Given the description of an element on the screen output the (x, y) to click on. 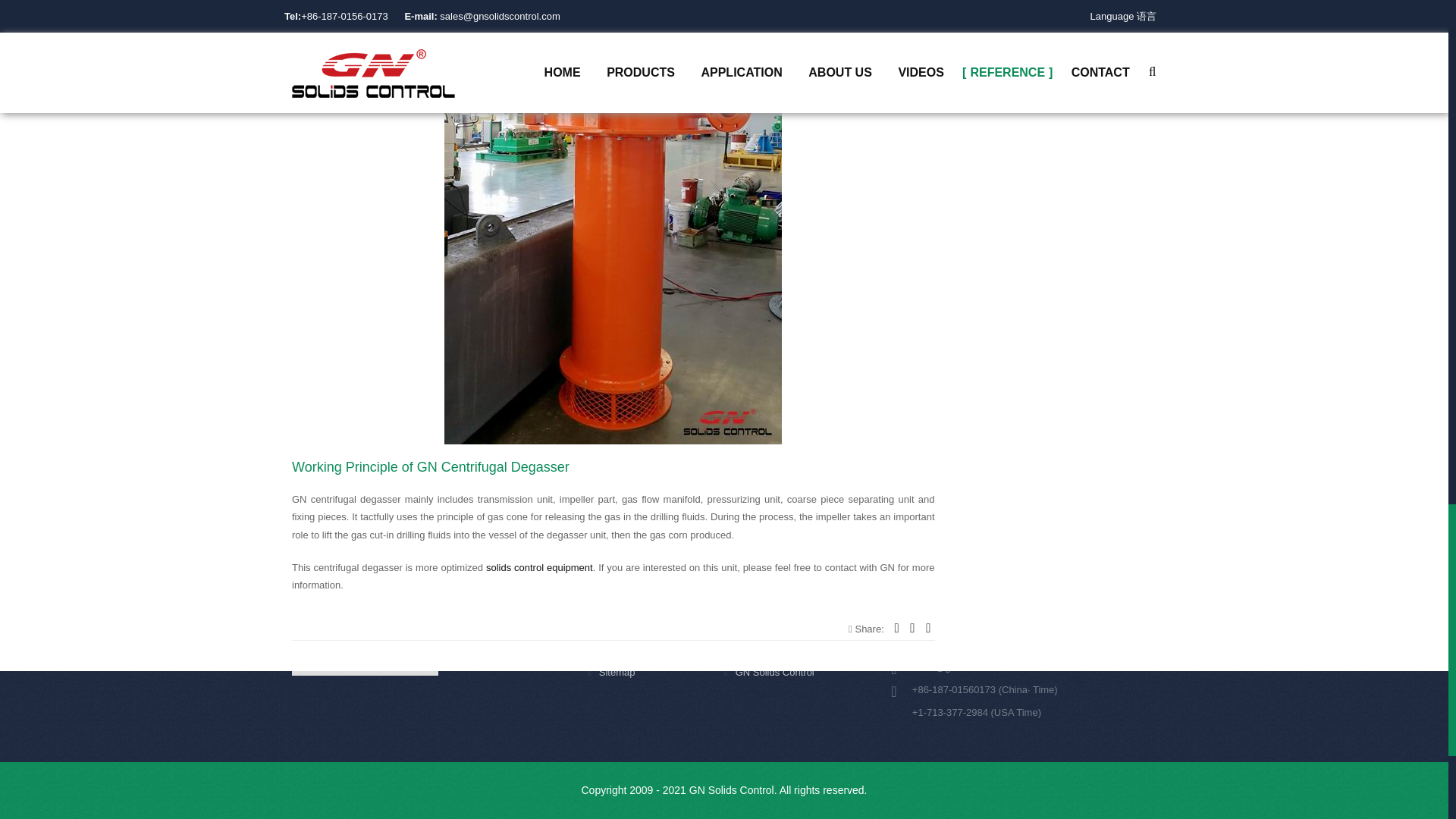
solids control equipment (539, 567)
